Given the description of an element on the screen output the (x, y) to click on. 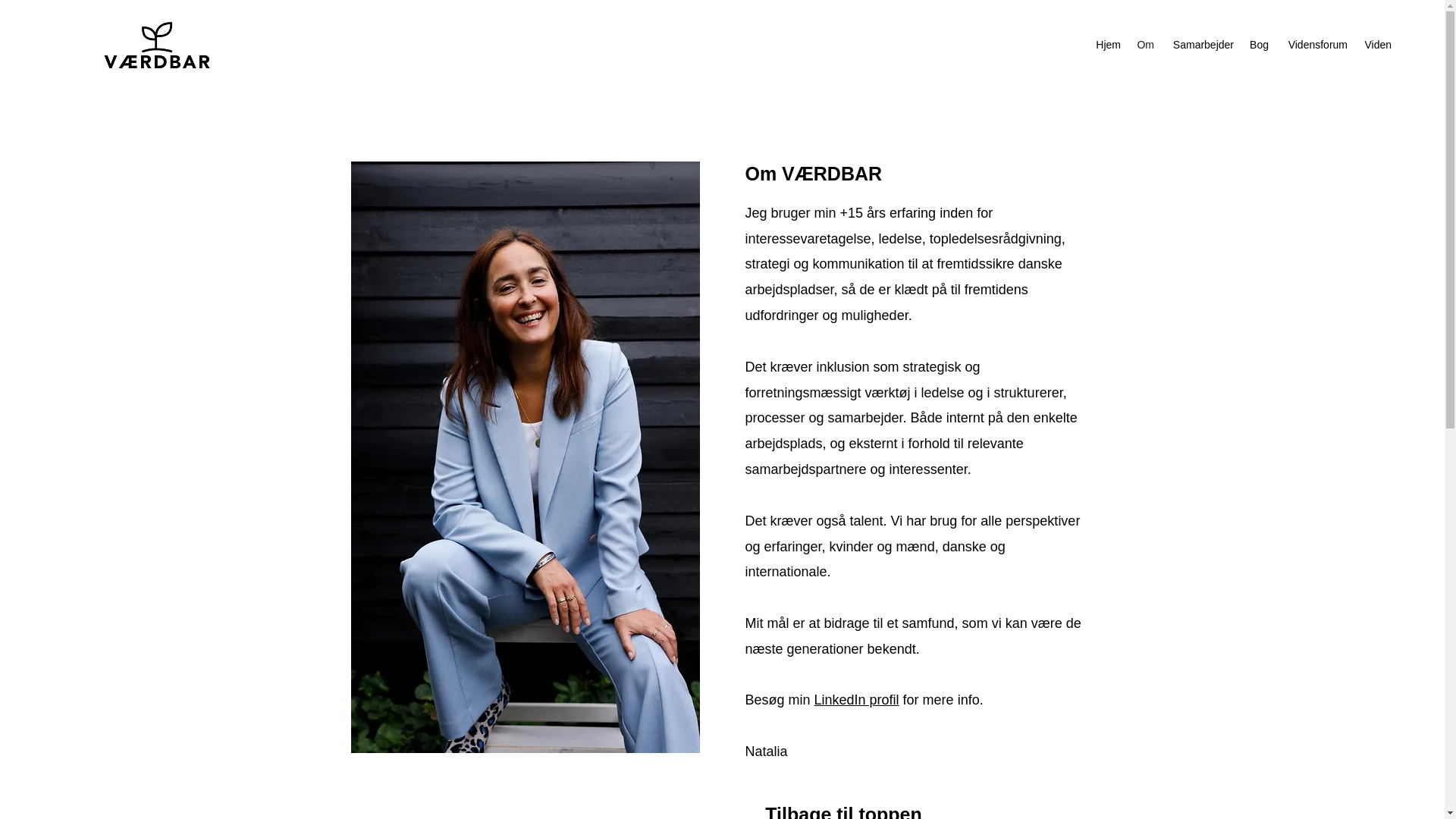
Viden (1377, 44)
Hjem (1107, 44)
Tilbage til toppen (843, 806)
Vidensforum (1315, 44)
Bog (1258, 44)
LinkedIn profil (856, 699)
Om (1144, 44)
Samarbejder (1201, 44)
